Given the description of an element on the screen output the (x, y) to click on. 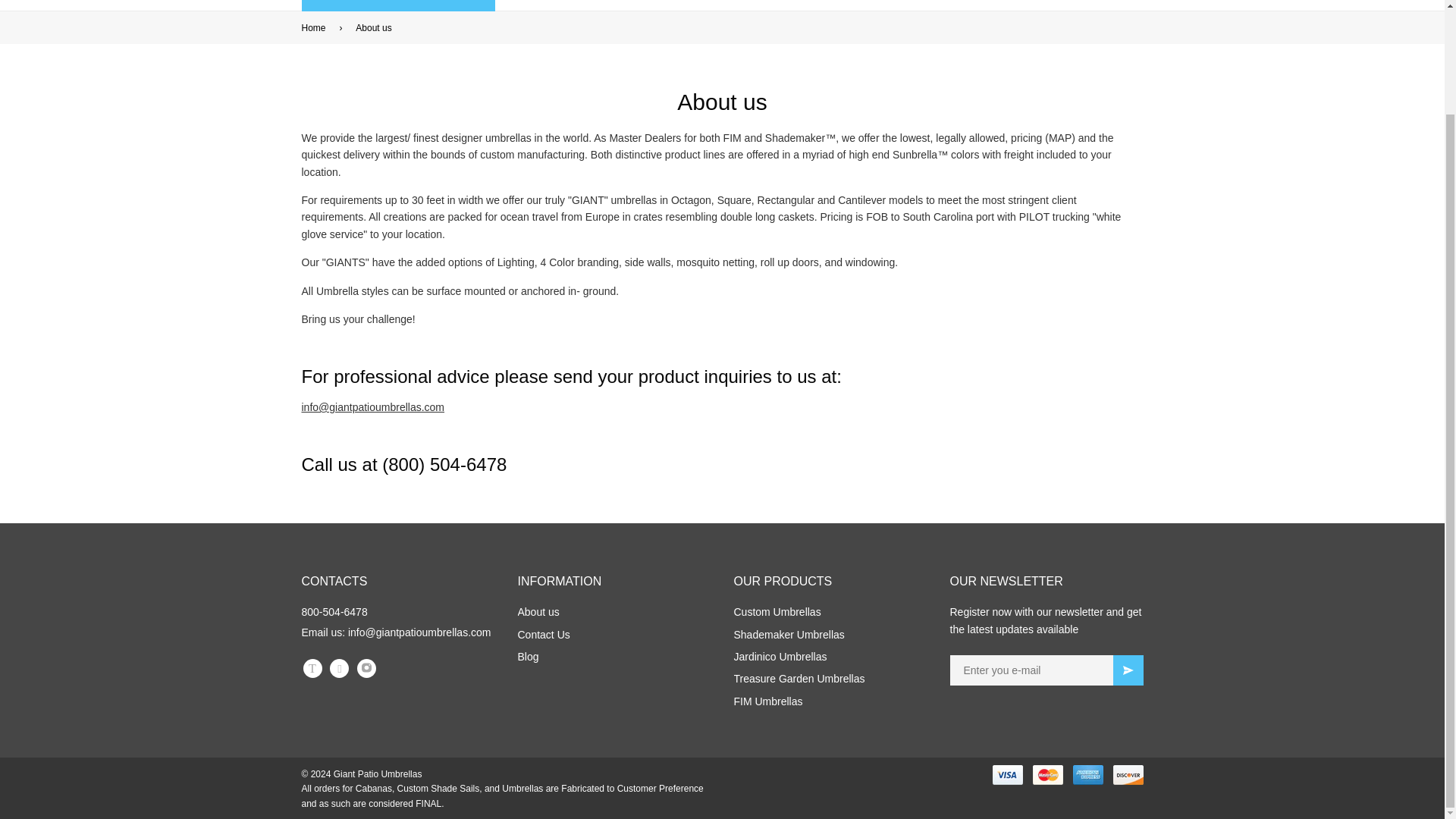
Back to the home page (316, 28)
